Given the description of an element on the screen output the (x, y) to click on. 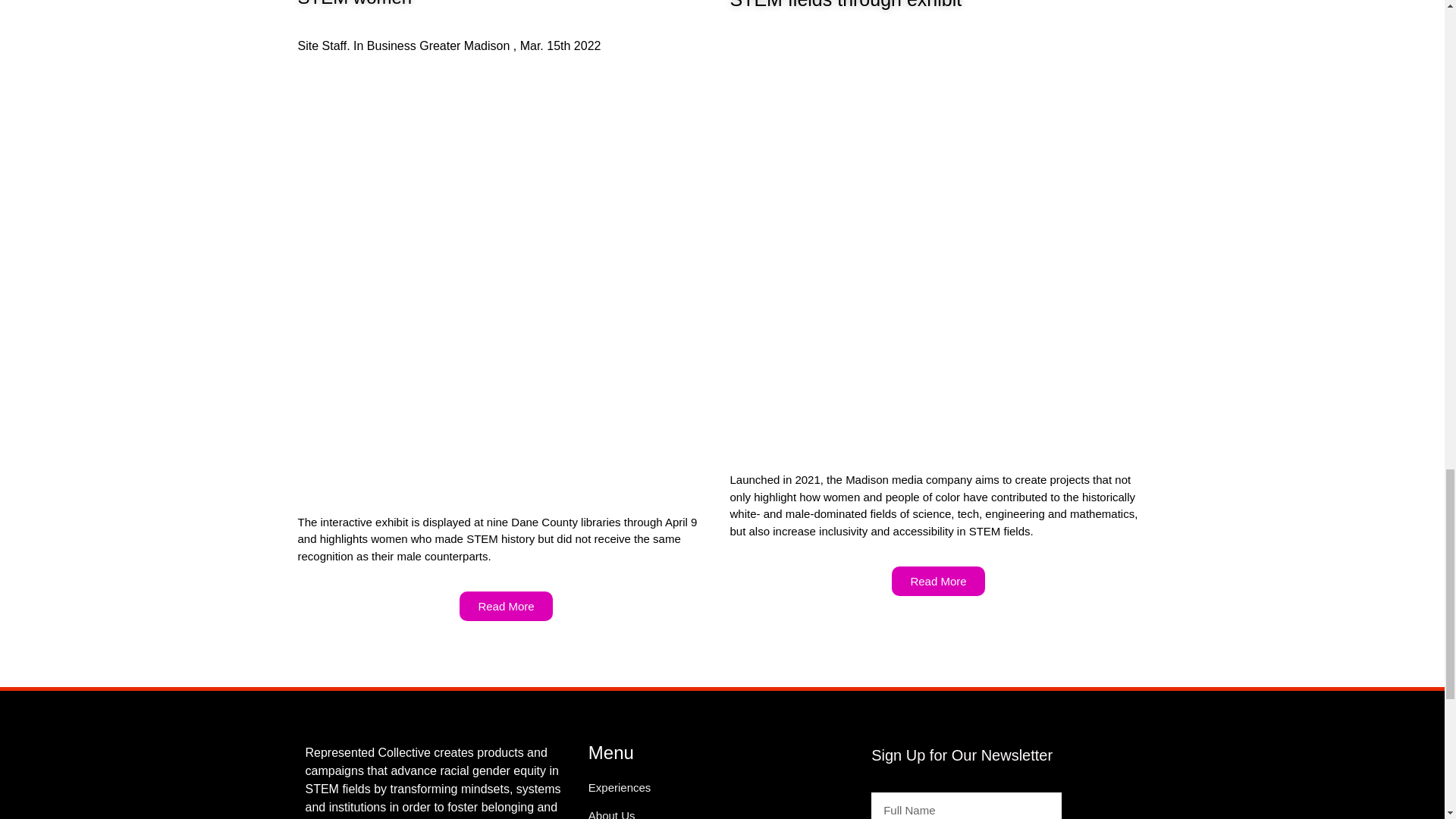
Read More (937, 581)
Read More (505, 605)
Experiences  (620, 787)
About Us (611, 814)
